Given the description of an element on the screen output the (x, y) to click on. 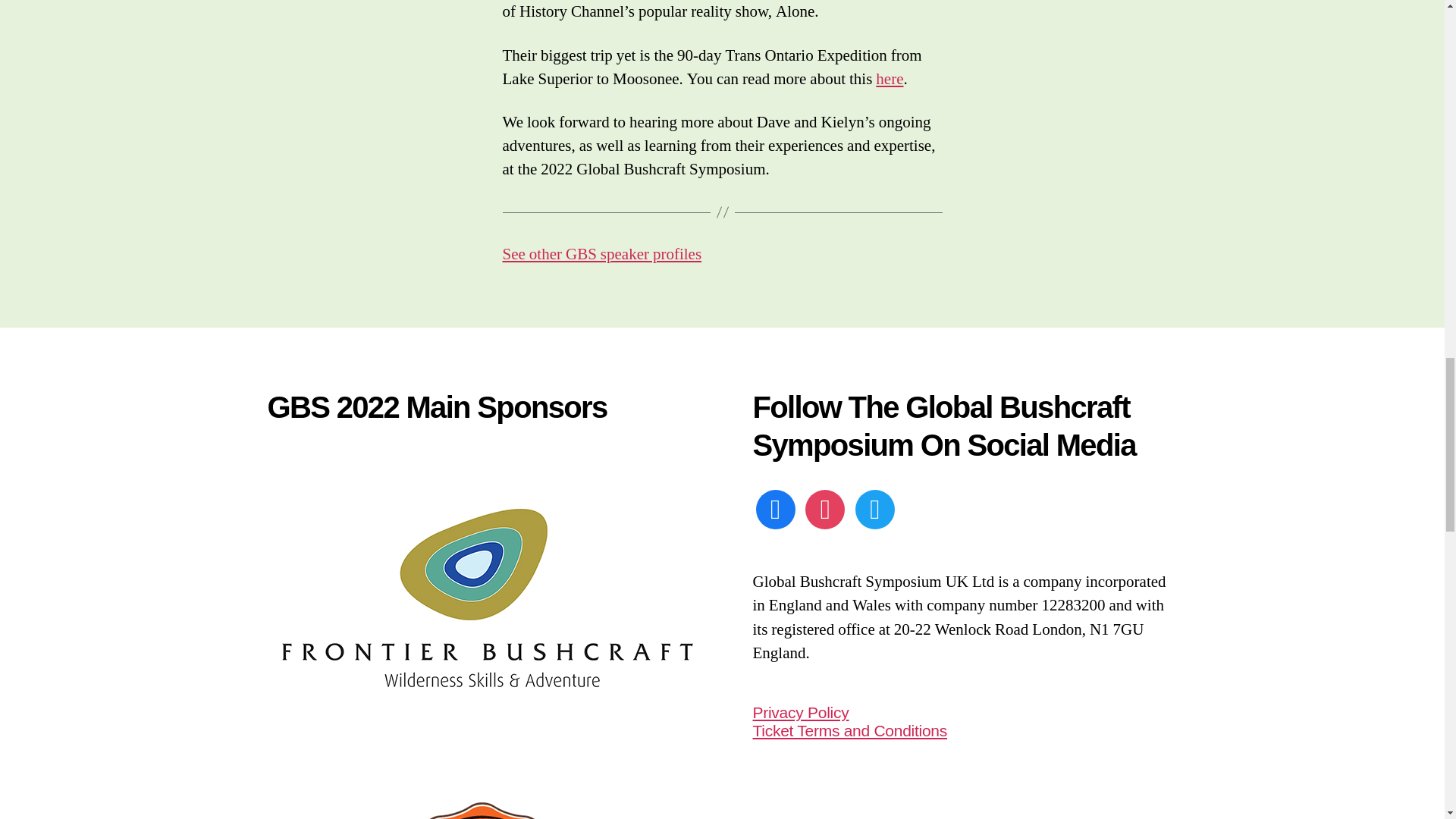
See other GBS speaker profiles (601, 254)
Default Label (824, 507)
Ticket Terms and Conditions (849, 730)
facebook (774, 507)
instagram (824, 507)
Default Label (875, 507)
Privacy Policy (800, 712)
twitter (875, 507)
Default Label (774, 507)
here (889, 78)
GBS 2022 Main Sponsors (486, 595)
